Given the description of an element on the screen output the (x, y) to click on. 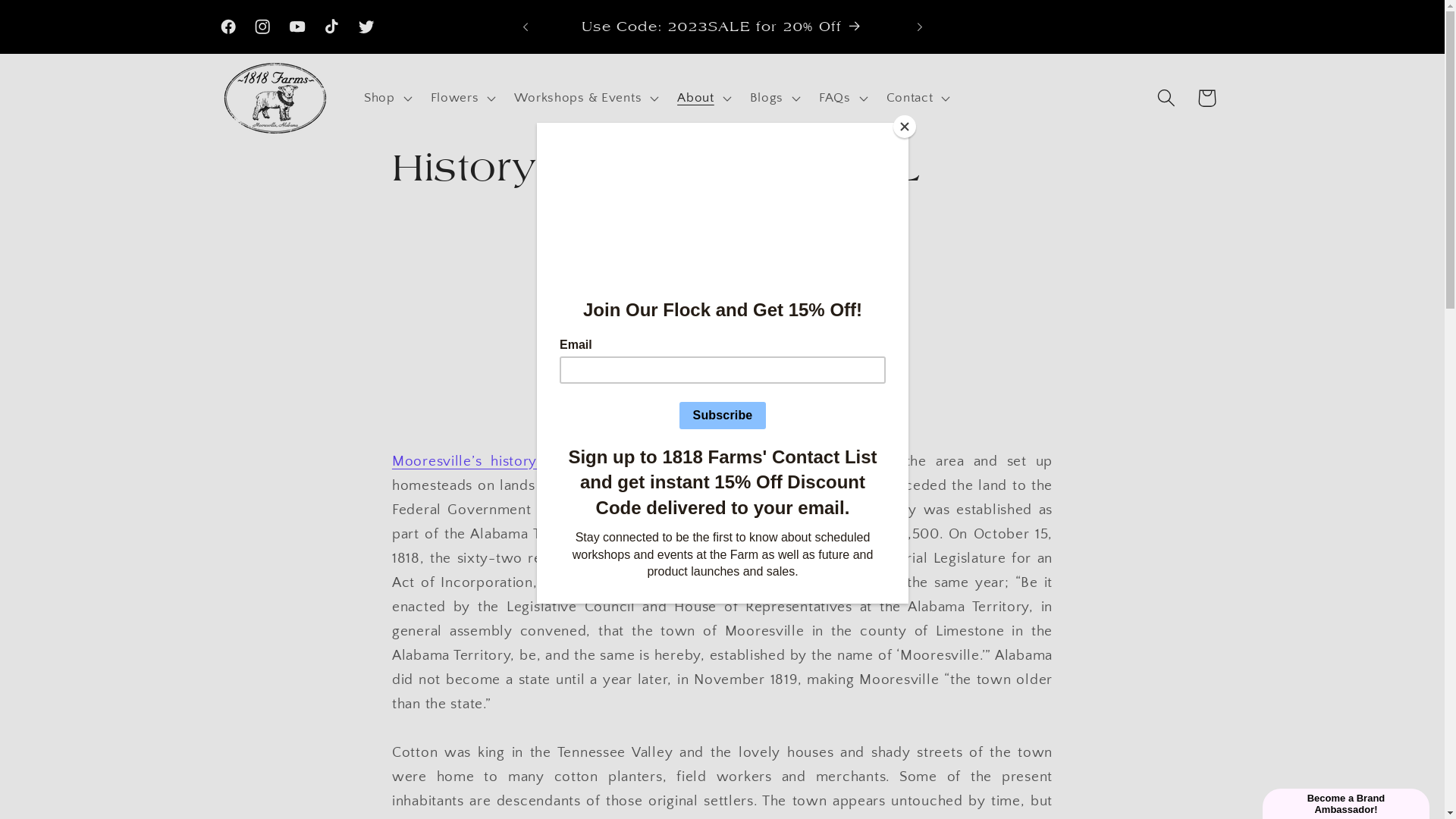
YouTube Element type: text (296, 26)
Facebook Element type: text (227, 26)
TikTok Element type: text (331, 26)
Instagram Element type: text (262, 26)
Cart Element type: text (1206, 98)
Twitter Element type: text (365, 26)
Use Code: 2023SALE for 20% Off Element type: text (721, 26)
